Given the description of an element on the screen output the (x, y) to click on. 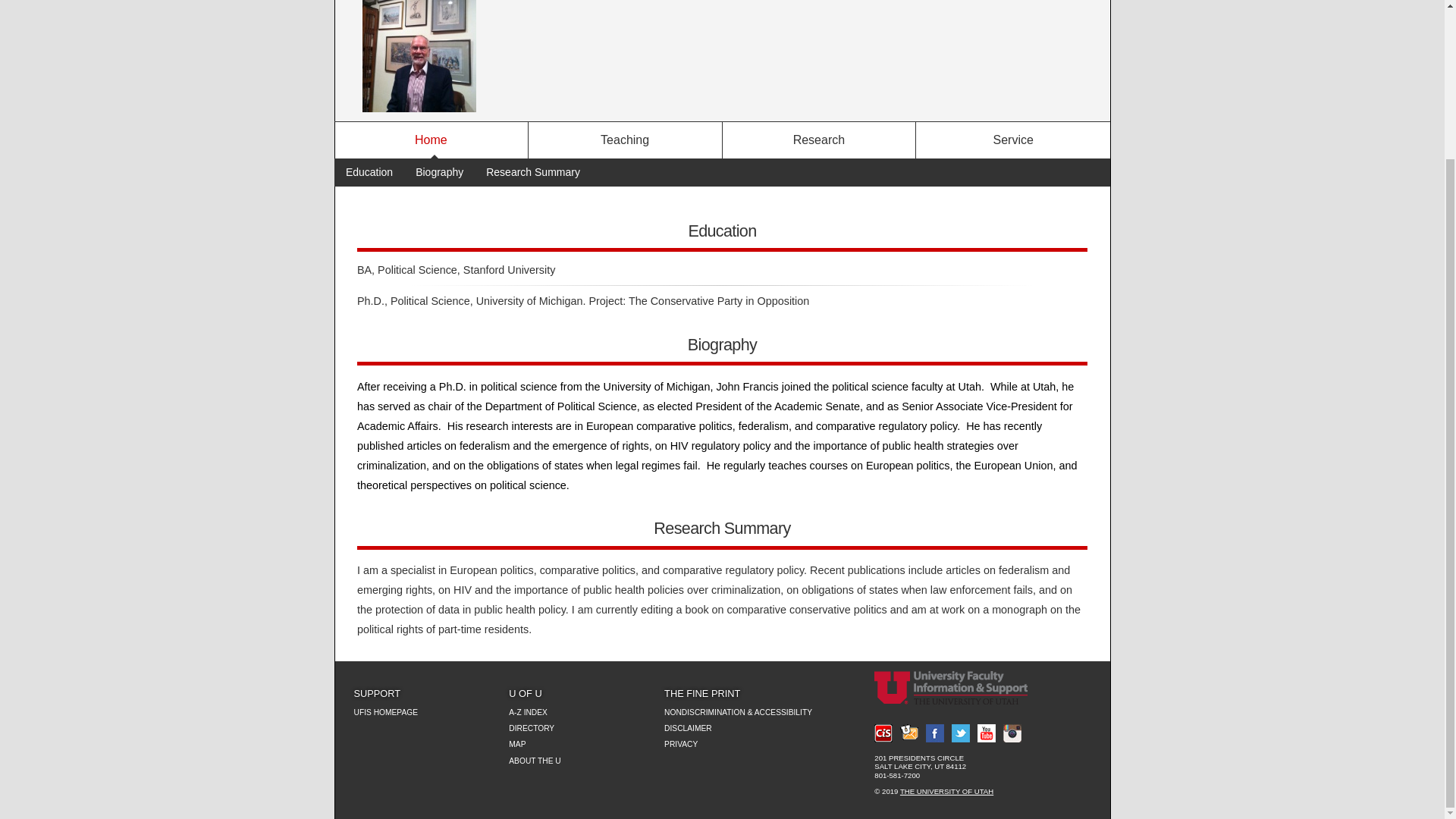
Biography (439, 171)
Research Summary (532, 171)
Research (818, 140)
Education (369, 171)
Home (430, 140)
Service (1012, 140)
U-Mail (908, 732)
Teaching (625, 140)
CIS login (883, 732)
facebook (934, 732)
JOHN G FRANCIS portrait (419, 56)
twitter (960, 732)
instagram (1012, 732)
youtube (985, 732)
